Given the description of an element on the screen output the (x, y) to click on. 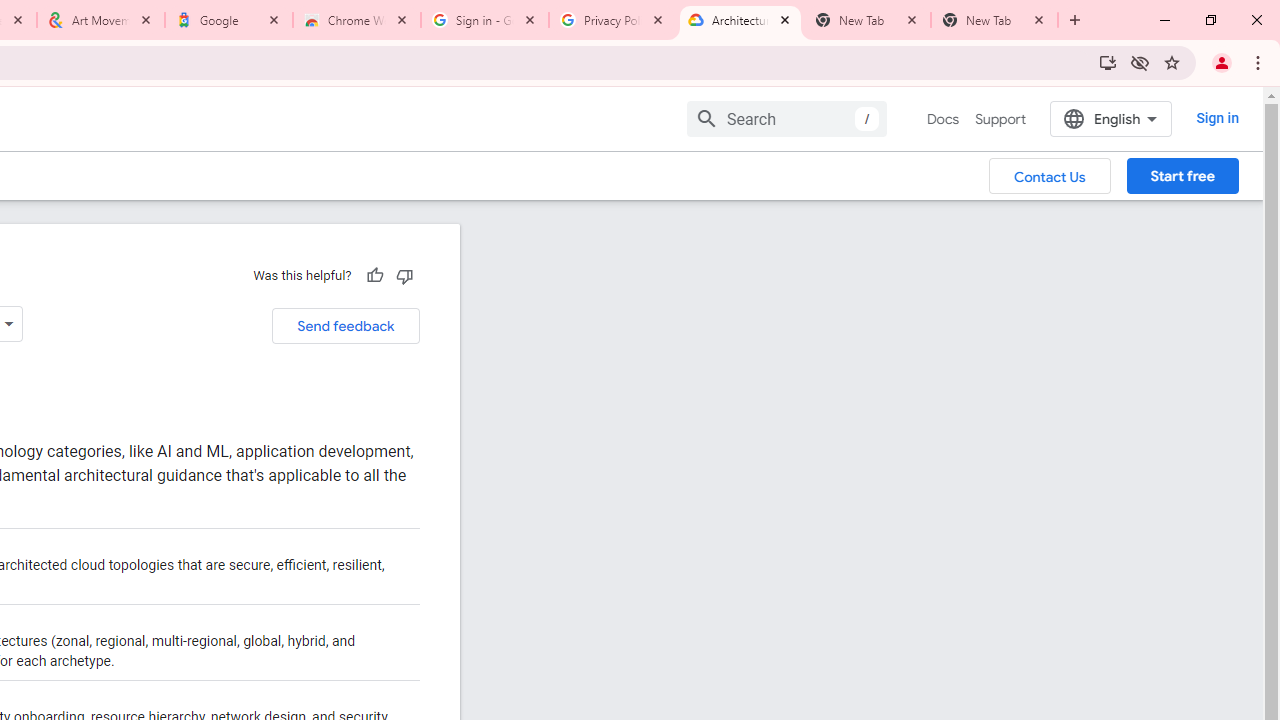
Send feedback (345, 326)
Helpful (374, 275)
Google (229, 20)
Install Google Cloud (1107, 62)
